Given the description of an element on the screen output the (x, y) to click on. 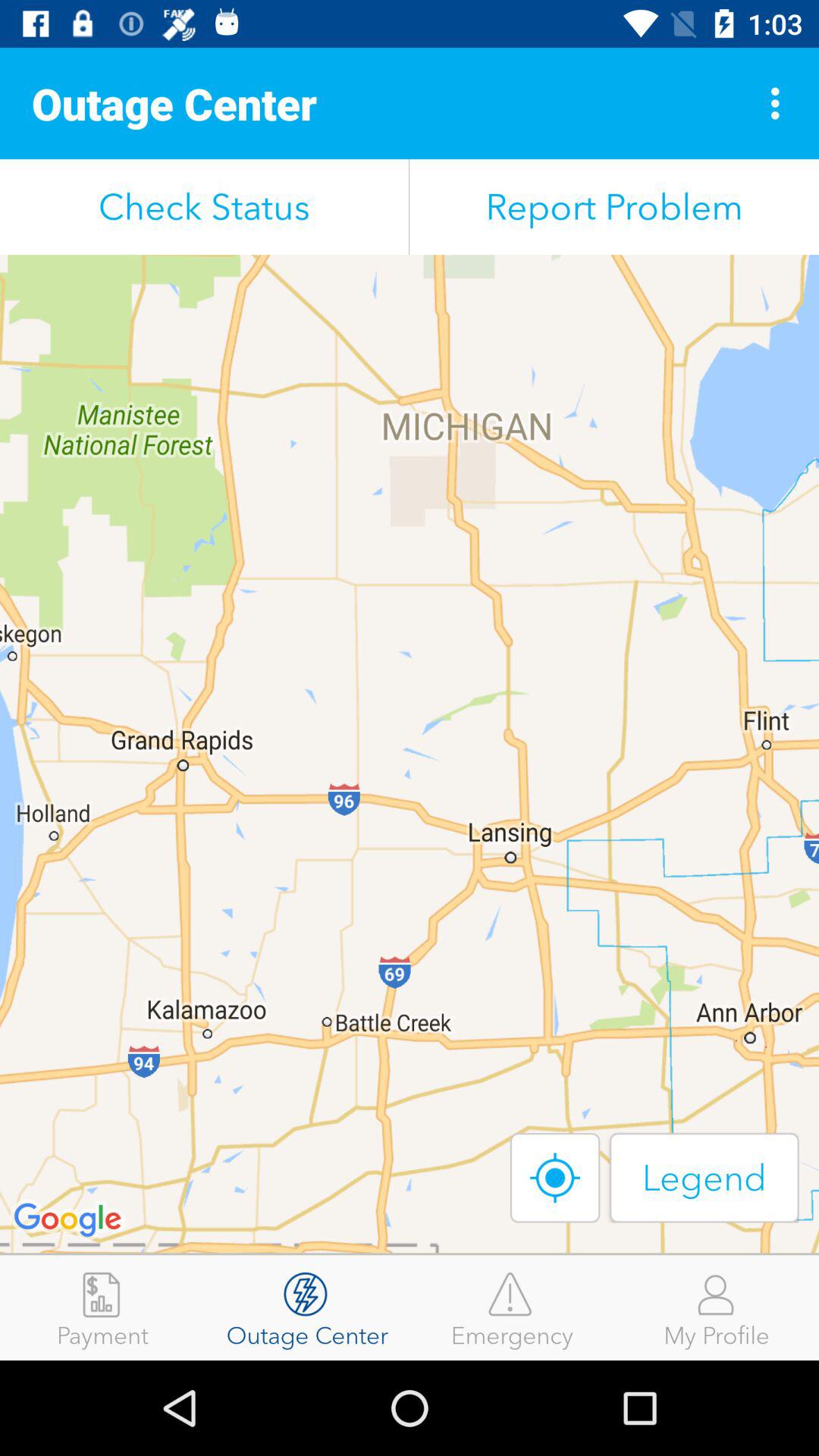
tap the item next to check status icon (614, 206)
